Given the description of an element on the screen output the (x, y) to click on. 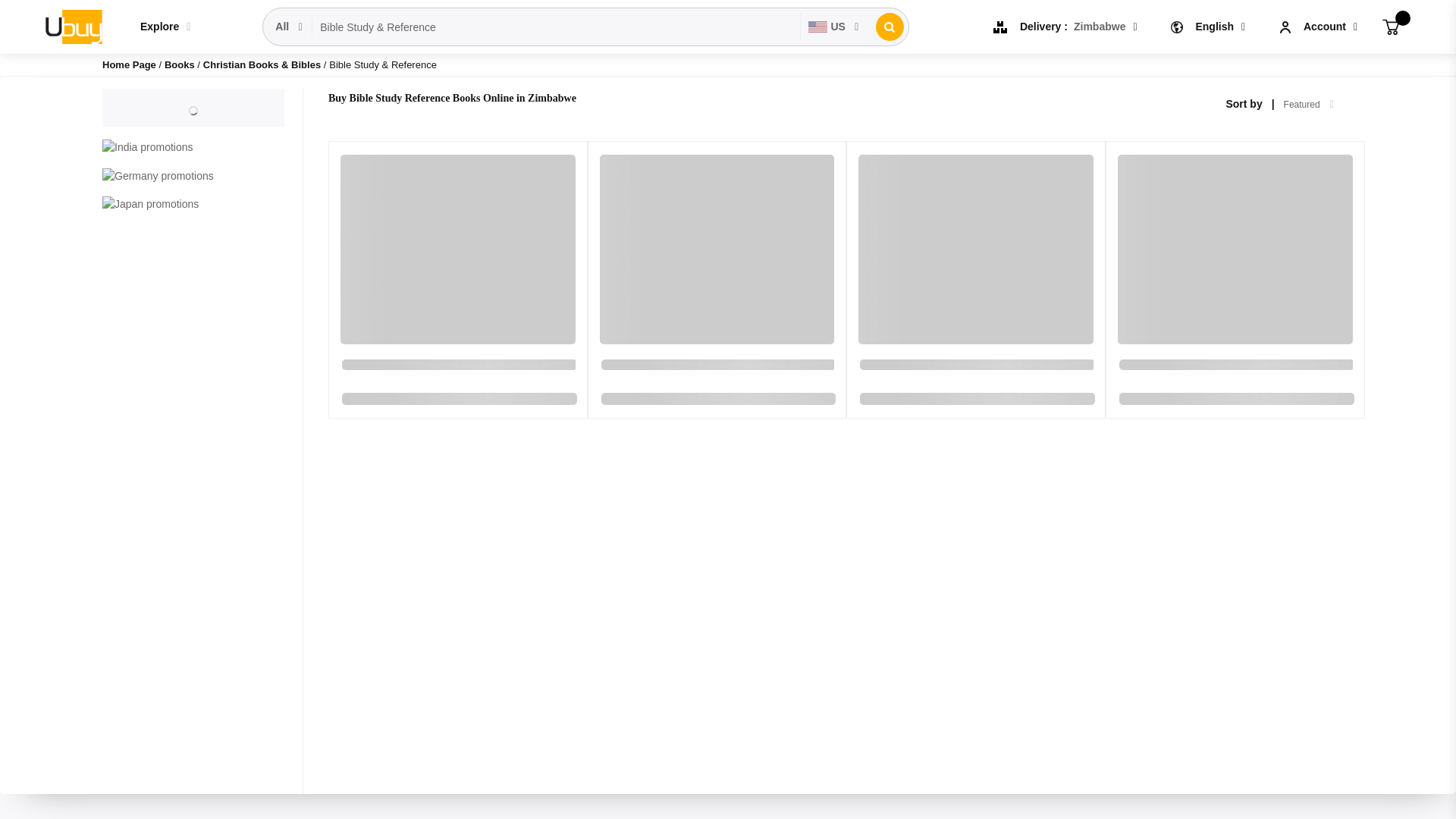
Books (180, 64)
All (289, 26)
Home Page (128, 64)
US (833, 26)
Home Page (128, 64)
Ubuy (73, 26)
Cart (1390, 26)
